Given the description of an element on the screen output the (x, y) to click on. 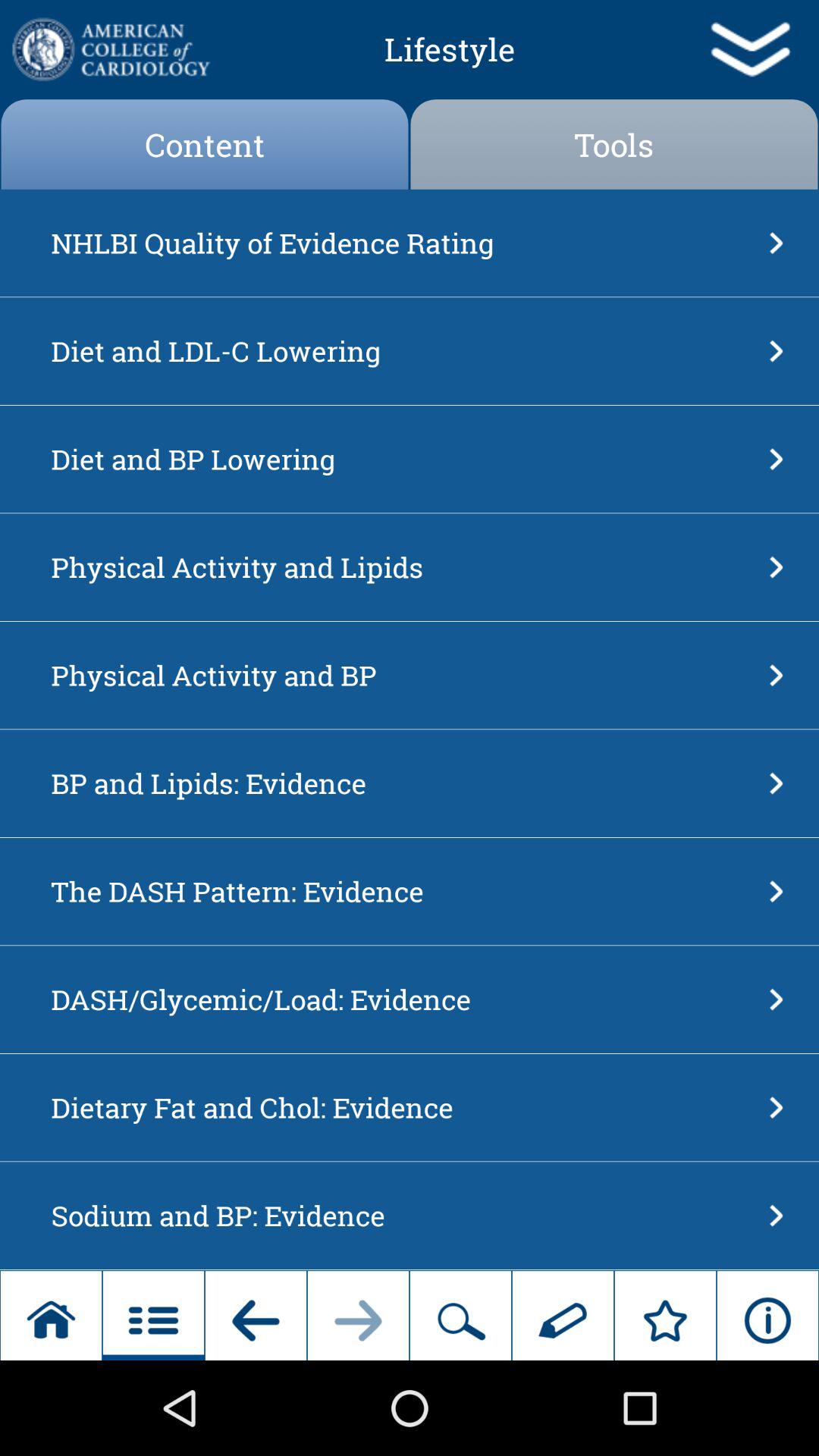
open home page (109, 49)
